Given the description of an element on the screen output the (x, y) to click on. 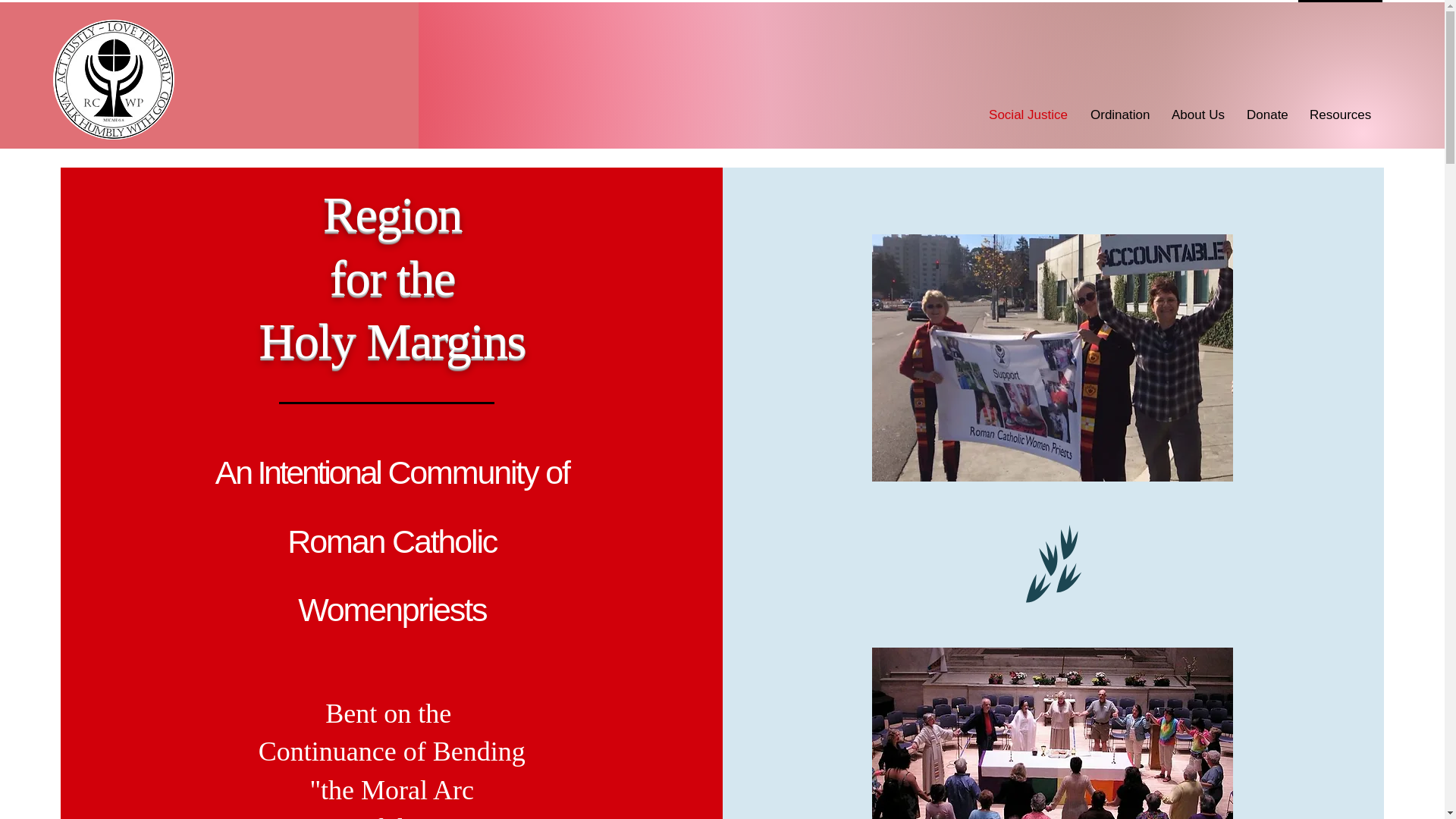
About Us (1197, 114)
Resources (1339, 114)
Ordination (1119, 114)
Social Justice (1027, 114)
Donate (1266, 114)
Log In (1340, 13)
Logo RCWP.jpg (113, 79)
